Given the description of an element on the screen output the (x, y) to click on. 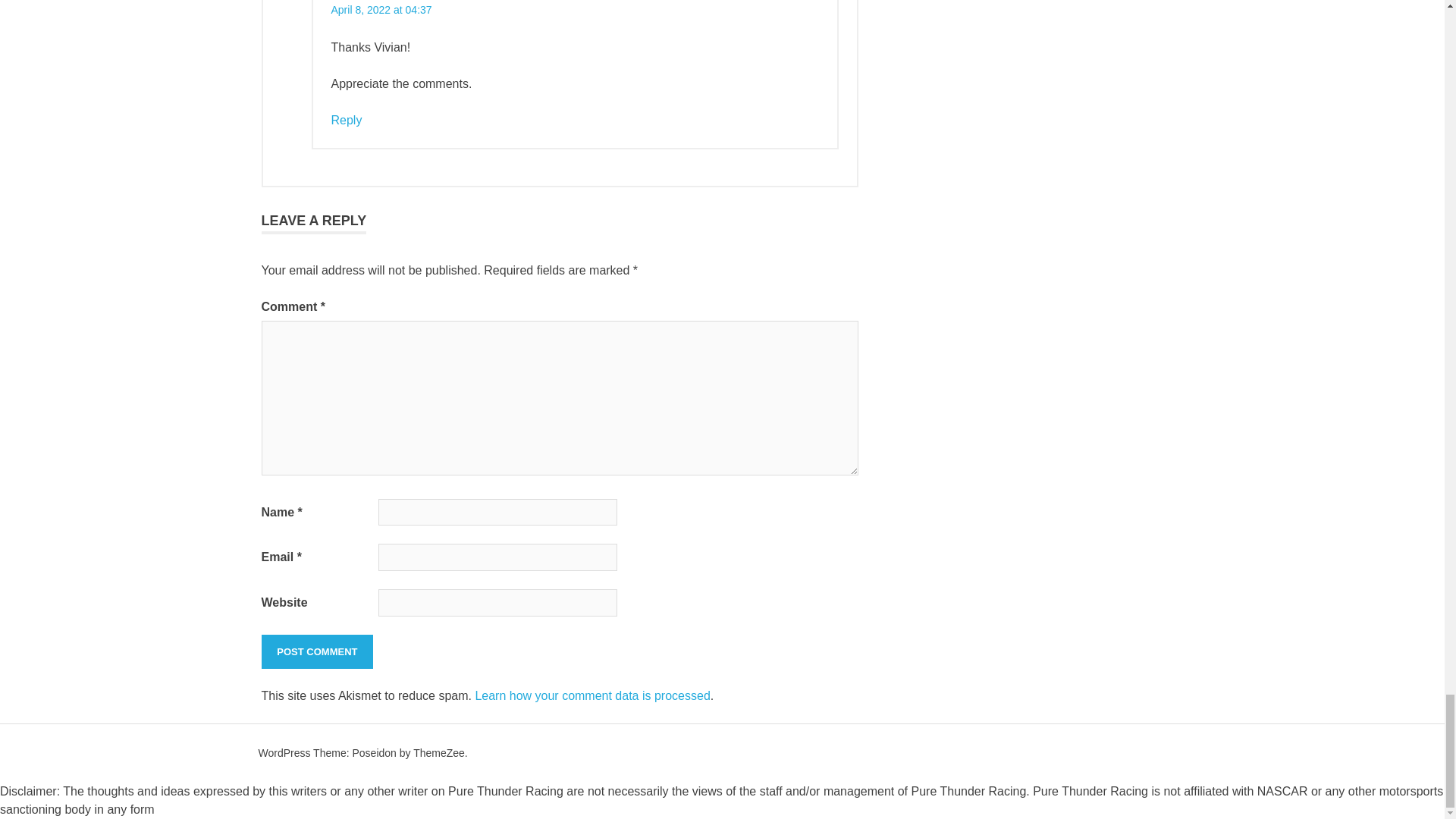
Post Comment (316, 651)
April 8, 2022 at 04:37 (380, 9)
Reply (345, 119)
